Given the description of an element on the screen output the (x, y) to click on. 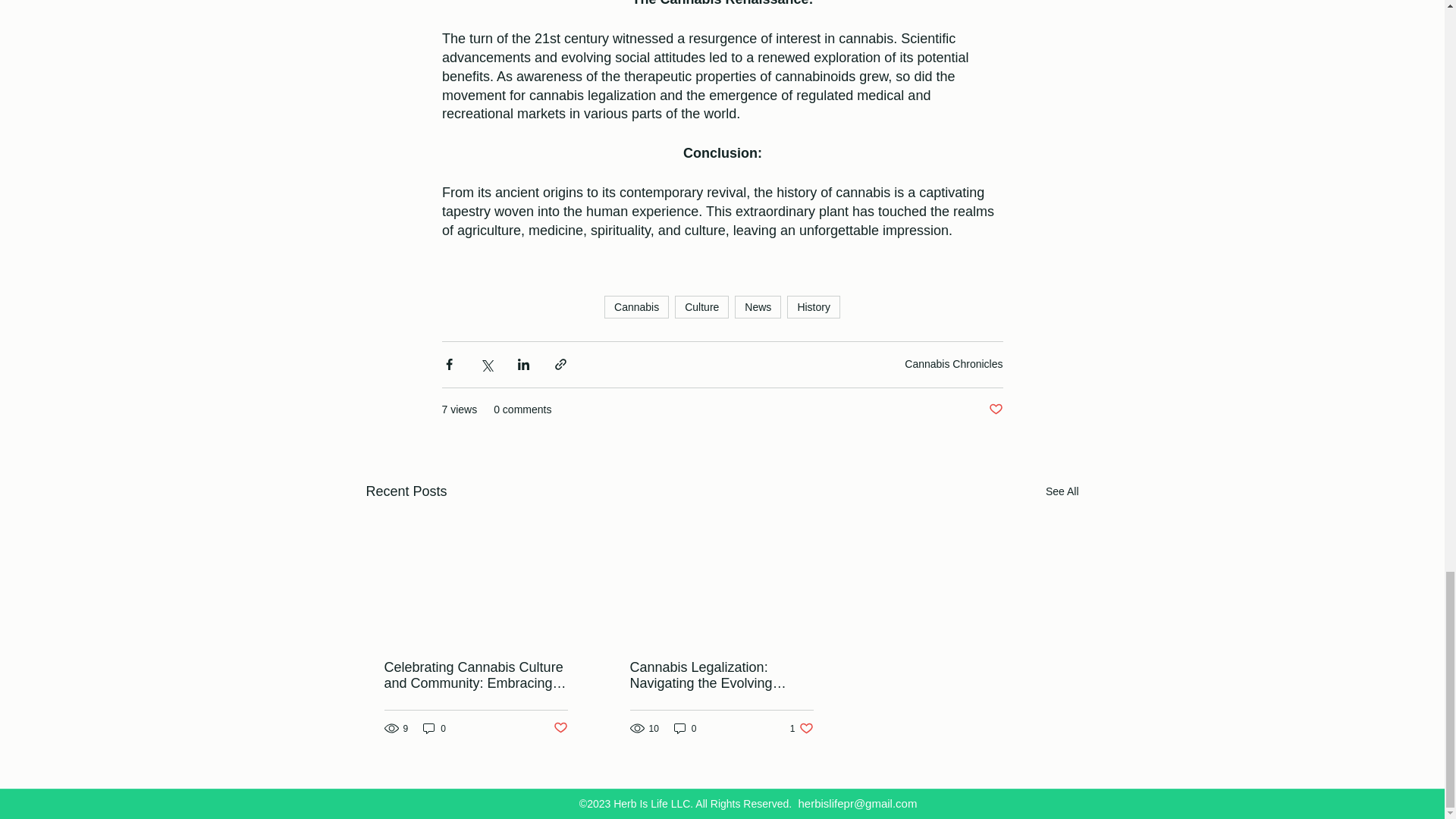
Post not marked as liked (560, 728)
History (813, 306)
Cannabis (636, 306)
Post not marked as liked (995, 409)
News (757, 306)
Culture (702, 306)
Cannabis Chronicles (953, 363)
0 (434, 728)
